Given the description of an element on the screen output the (x, y) to click on. 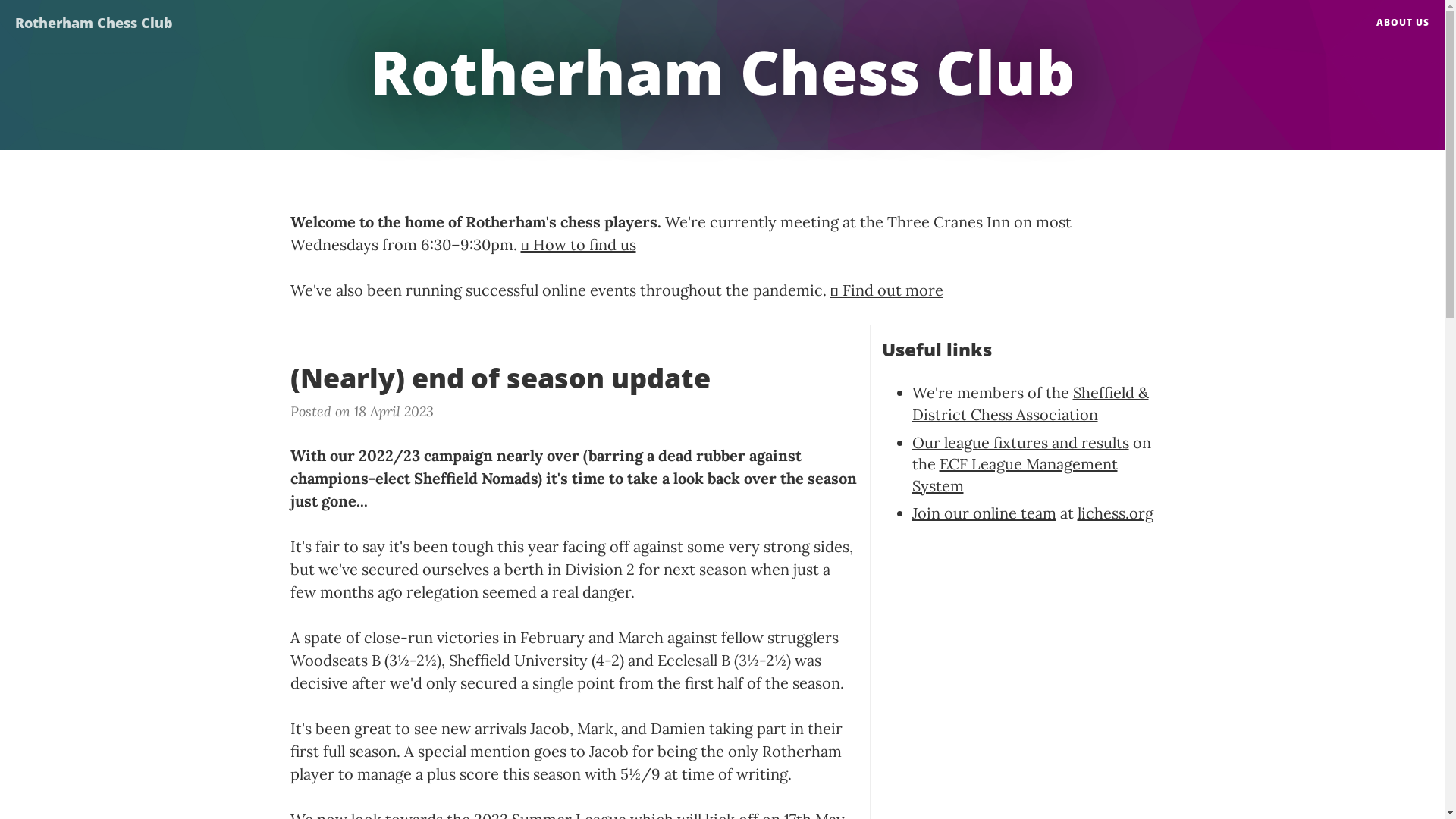
lichess.org Element type: text (1114, 512)
ECF League Management System Element type: text (1014, 474)
Our league fixtures and results Element type: text (1019, 442)
Join our online team Element type: text (983, 512)
Sheffield & District Chess Association Element type: text (1029, 402)
Rotherham Chess Club Element type: text (94, 18)
(Nearly) end of season update Element type: text (573, 378)
ABOUT US Element type: text (1402, 22)
